Given the description of an element on the screen output the (x, y) to click on. 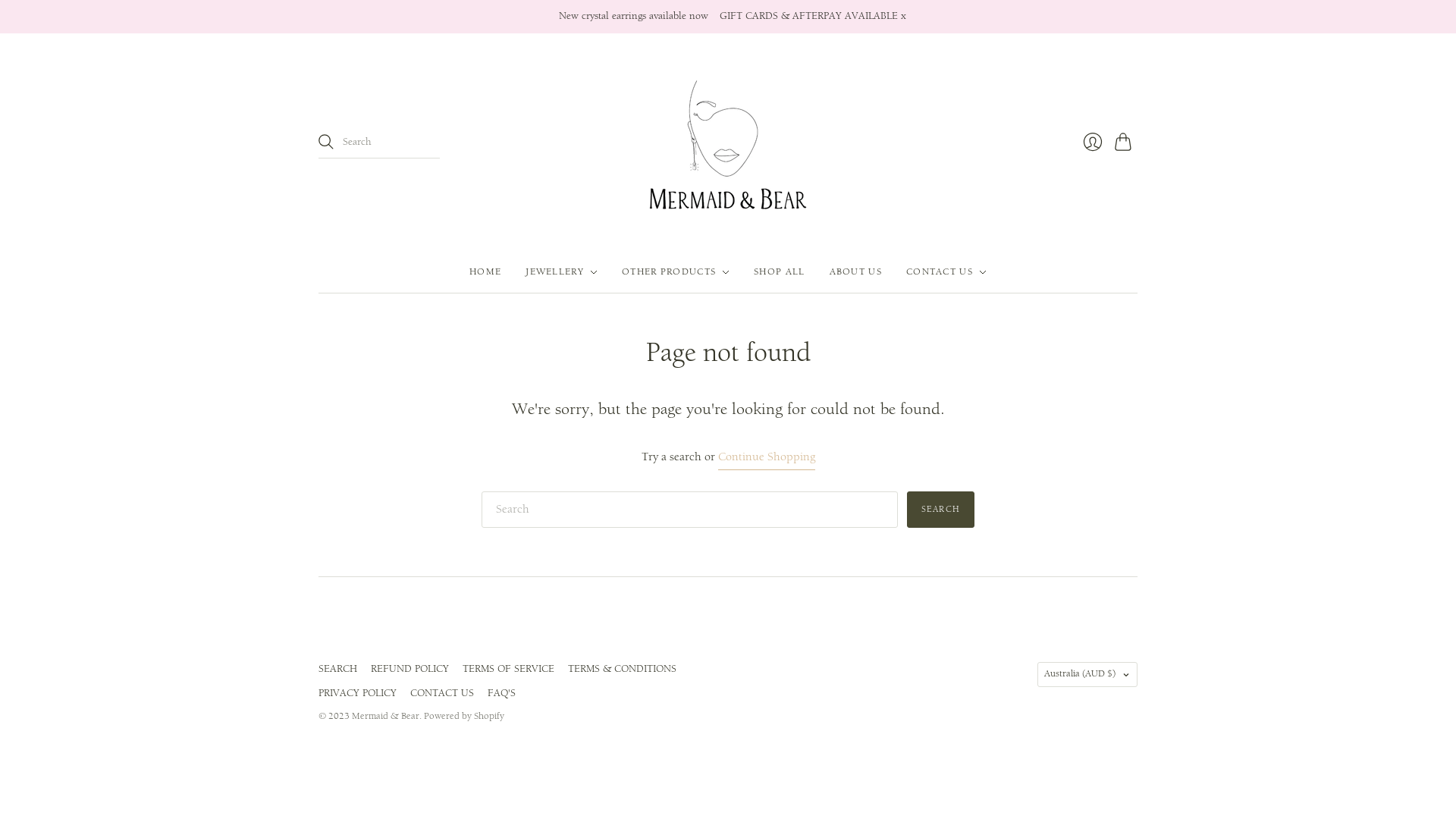
PRIVACY POLICY Element type: text (357, 693)
ABOUT US Element type: text (855, 271)
SHOP ALL Element type: text (778, 271)
SEARCH Element type: text (337, 668)
Powered by Shopify Element type: text (463, 715)
REFUND POLICY Element type: text (409, 668)
Search Element type: text (940, 509)
TERMS OF SERVICE Element type: text (508, 668)
Continue Shopping Element type: text (765, 457)
HOME Element type: text (485, 271)
Login Element type: text (1092, 141)
Mermaid & Bear Element type: text (385, 715)
Cart Element type: text (1125, 141)
TERMS & CONDITIONS Element type: text (621, 668)
Australia (AUD $) Element type: text (1087, 674)
FAQ'S Element type: text (501, 693)
CONTACT US Element type: text (441, 693)
